Given the description of an element on the screen output the (x, y) to click on. 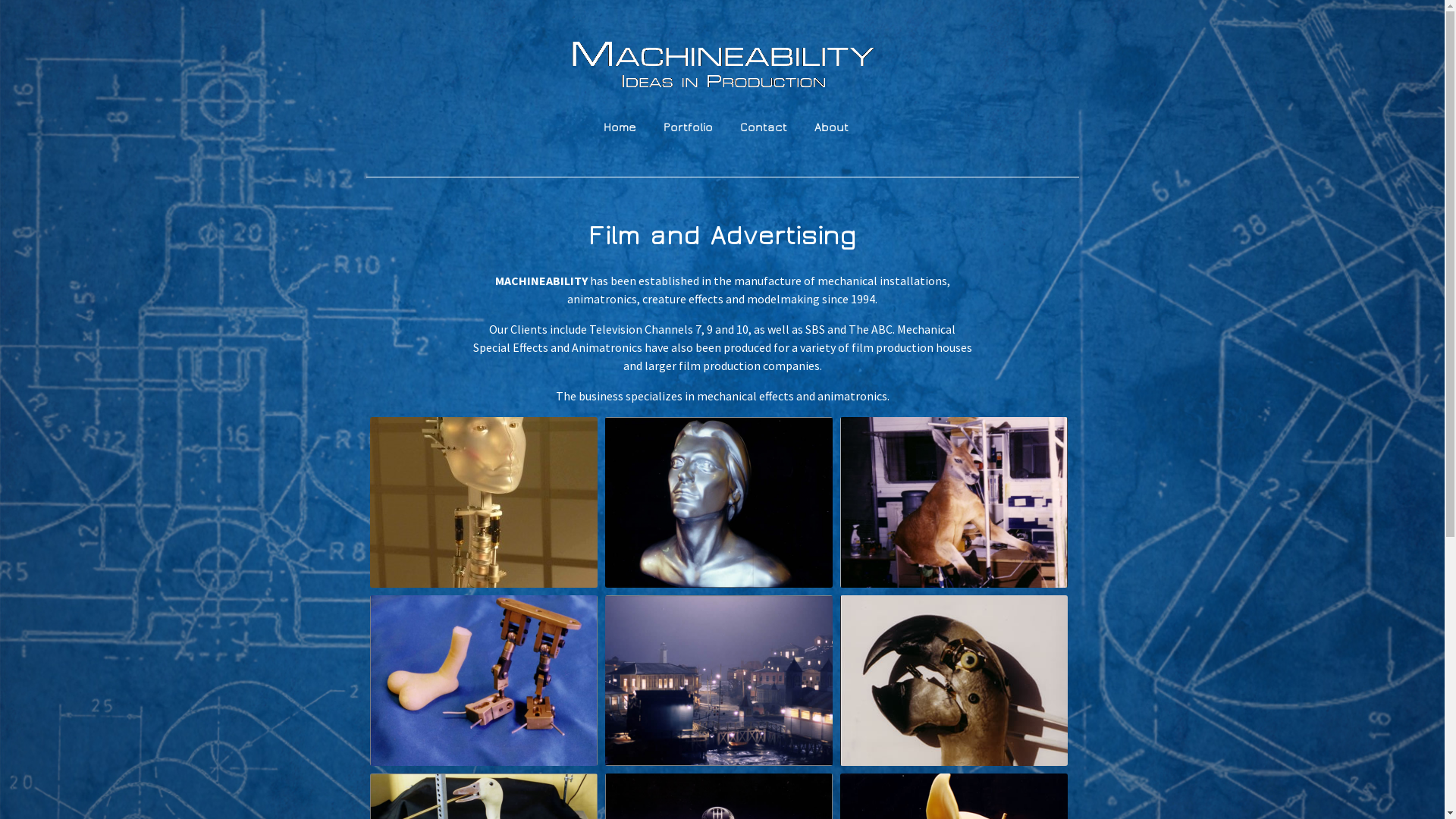
Animatronic Macaw Element type: hover (953, 680)
Coca Cola Model Element type: hover (718, 680)
Home Element type: text (619, 127)
Stop Motion Armature Element type: hover (483, 680)
Portfolio Element type: text (687, 127)
About Element type: text (831, 127)
Contact Element type: text (763, 127)
Futura. ABC Documentary. Element type: hover (483, 502)
Animatronic Kangaroo Element type: hover (953, 502)
Sculpture Element type: hover (718, 502)
